Given the description of an element on the screen output the (x, y) to click on. 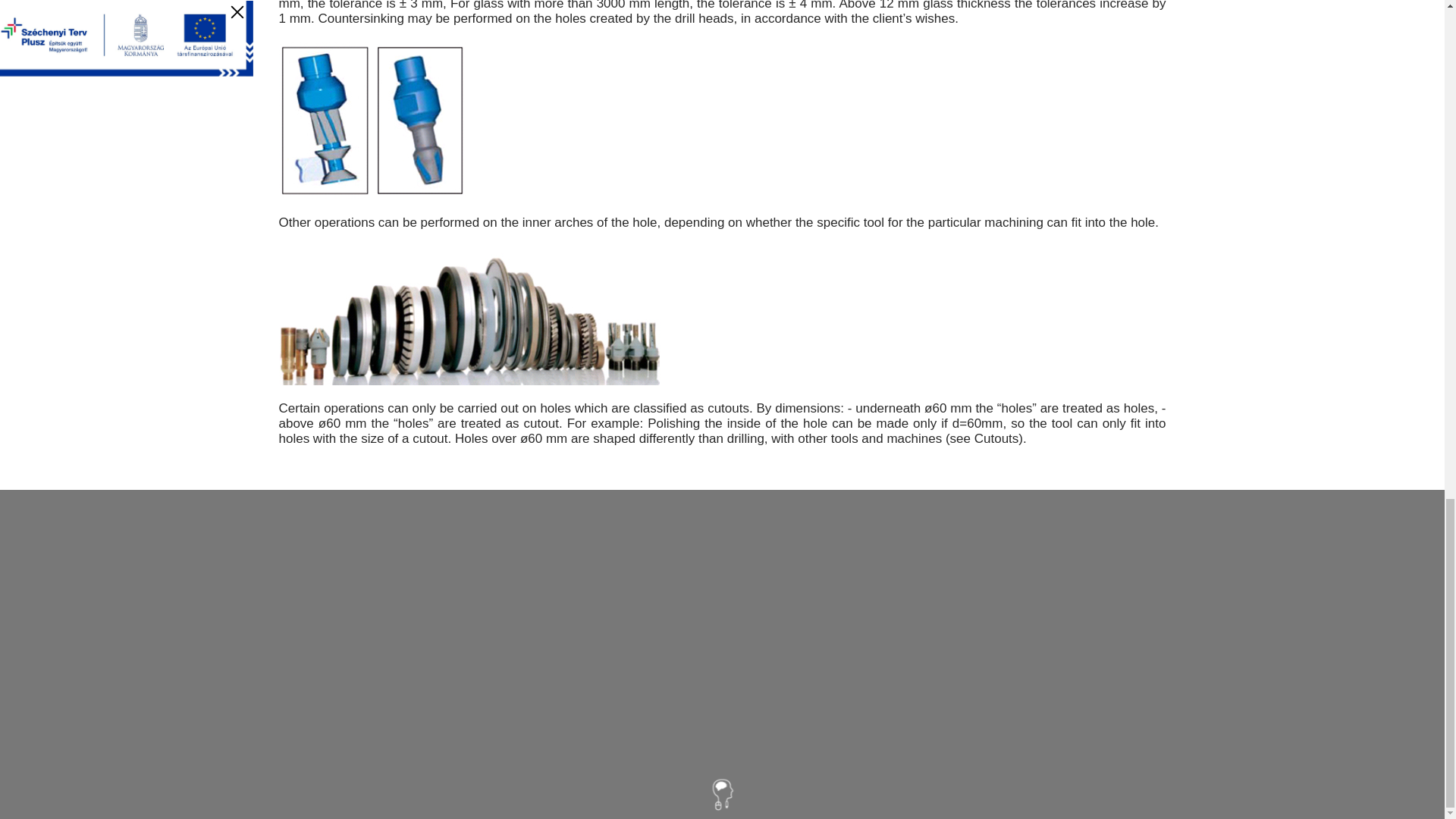
Glass Drilling CE Glass Industries (372, 120)
Glass Drilling CE Glass Industries (470, 315)
